Given the description of an element on the screen output the (x, y) to click on. 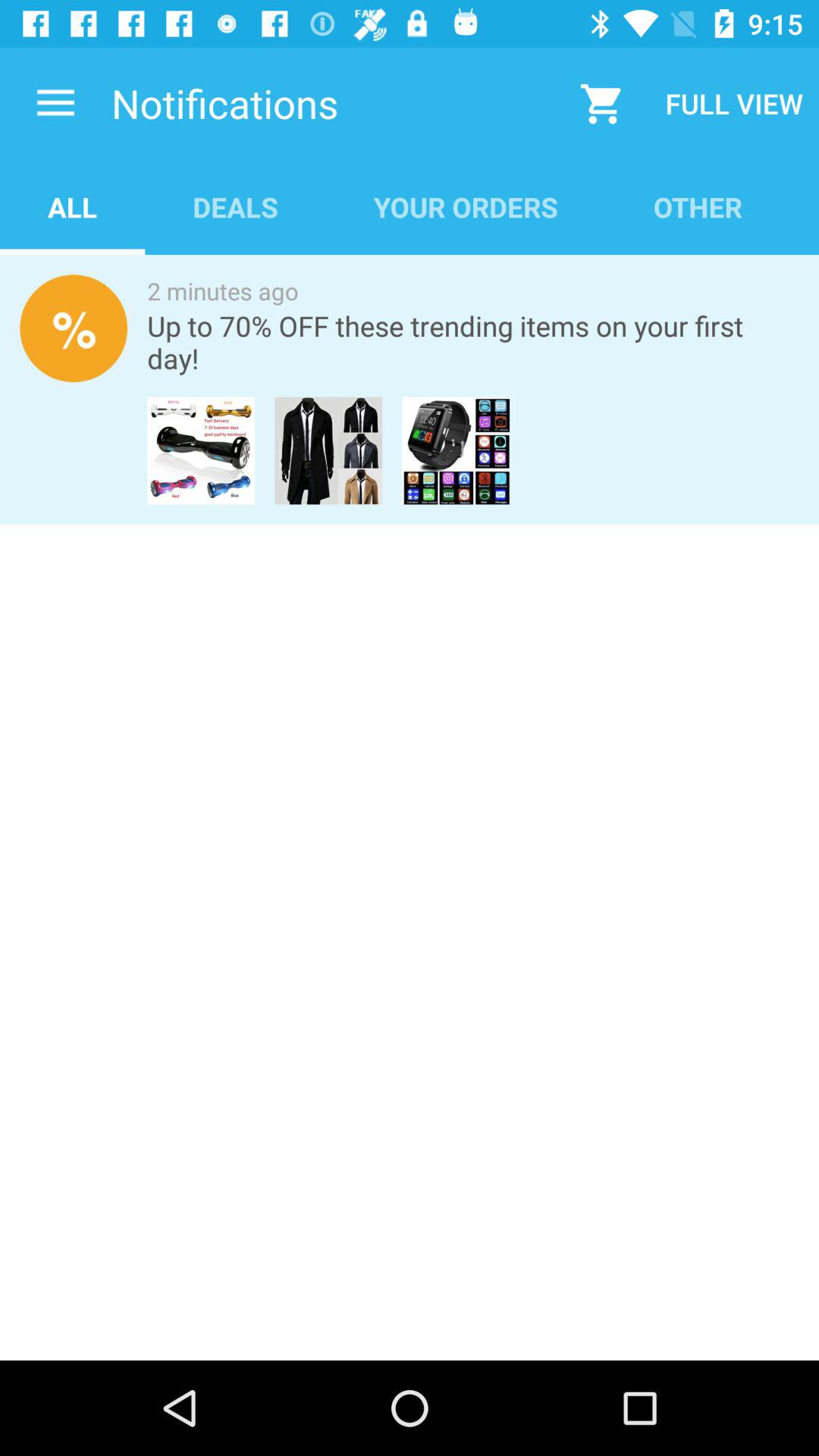
choose the icon above the other app (734, 103)
